Given the description of an element on the screen output the (x, y) to click on. 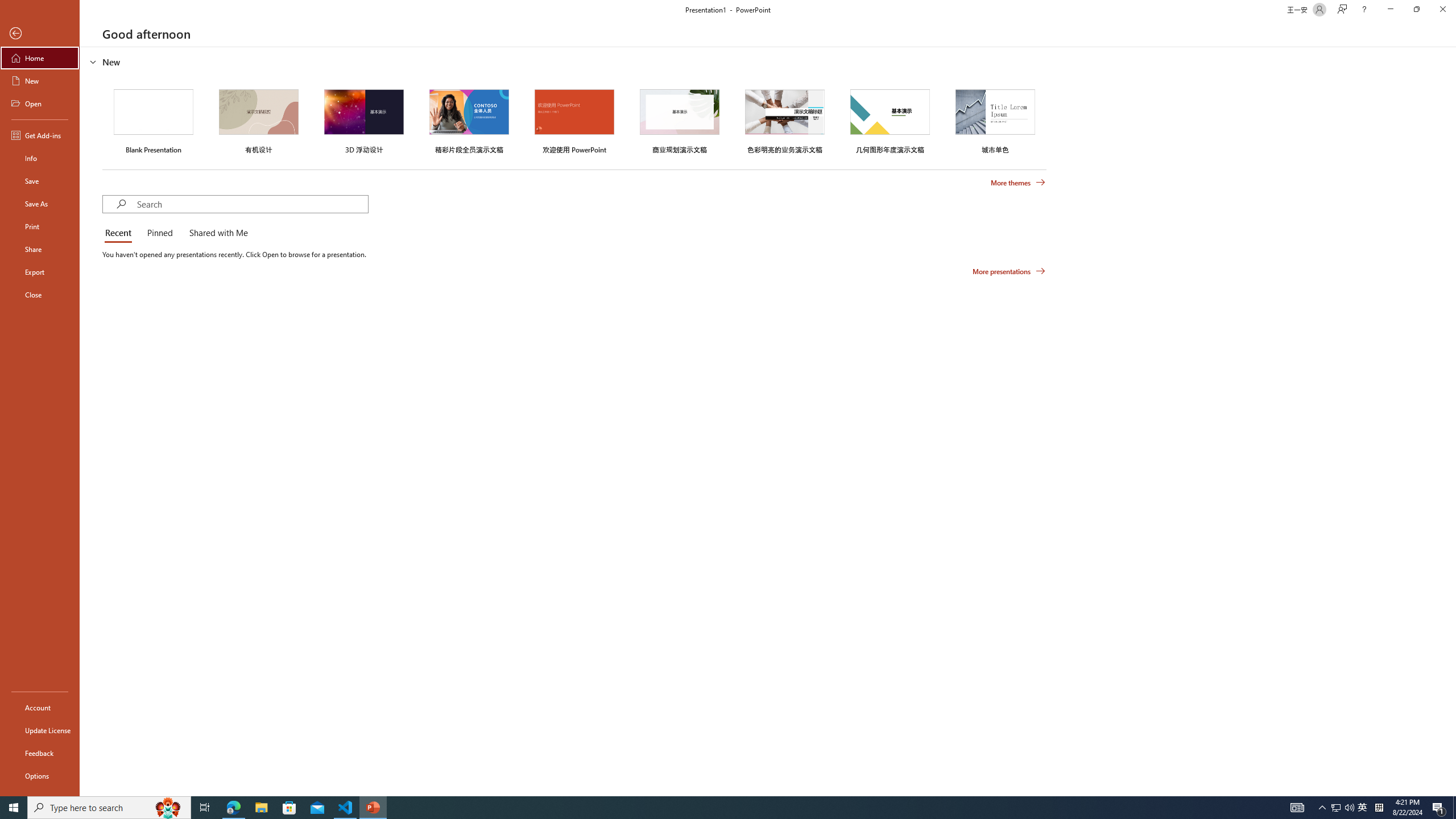
Account (40, 707)
Hide or show region (92, 61)
Blank Presentation (153, 119)
Options (40, 775)
Back (40, 33)
More presentations (1008, 270)
Feedback (40, 753)
